Given the description of an element on the screen output the (x, y) to click on. 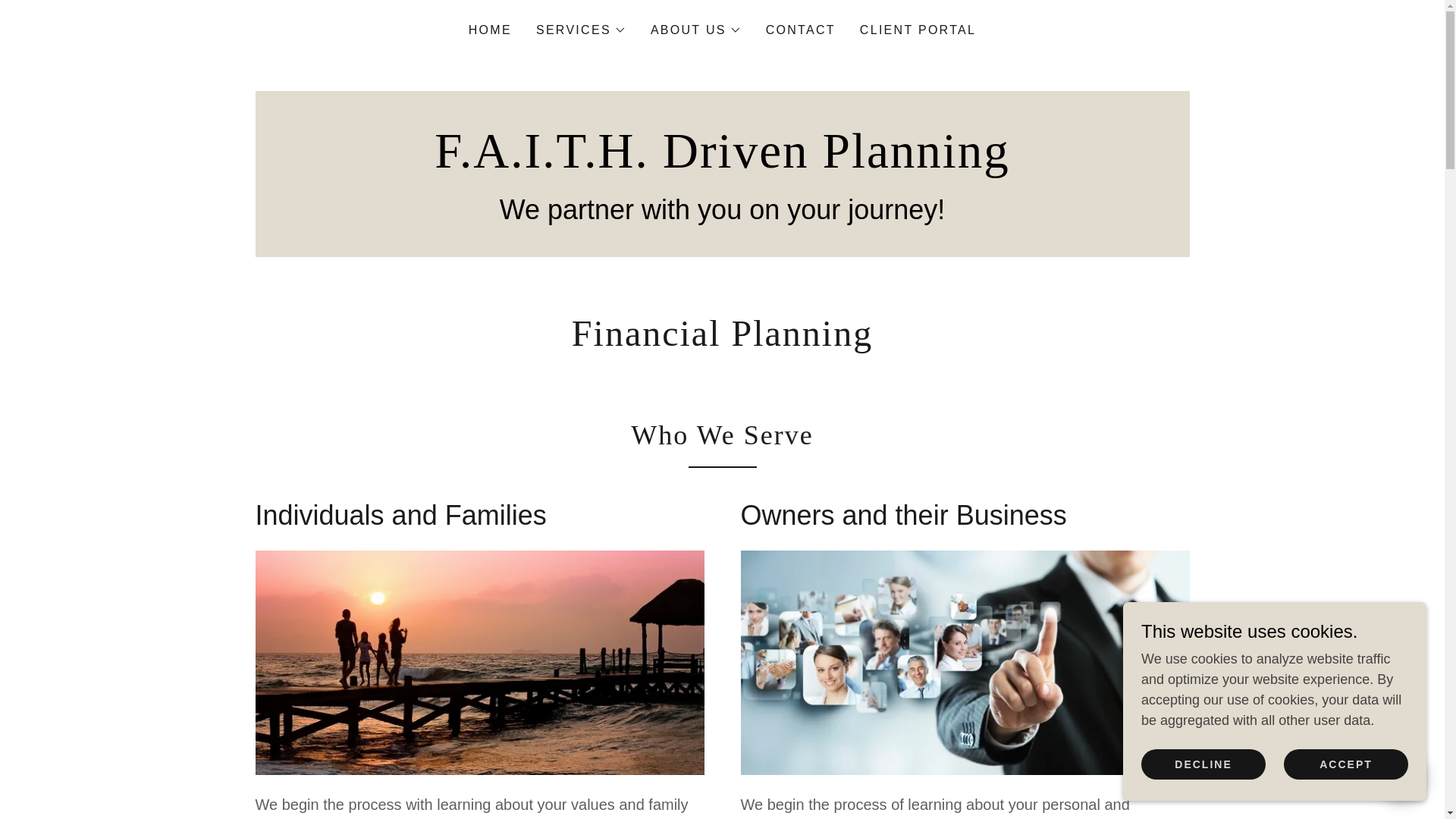
CLIENT PORTAL (917, 30)
ABOUT US (695, 30)
CONTACT (800, 30)
F.A.I.T.H. Driven Planning (721, 162)
SERVICES (580, 30)
F.A.I.T.H. Driven Planning (721, 162)
HOME (490, 30)
